Given the description of an element on the screen output the (x, y) to click on. 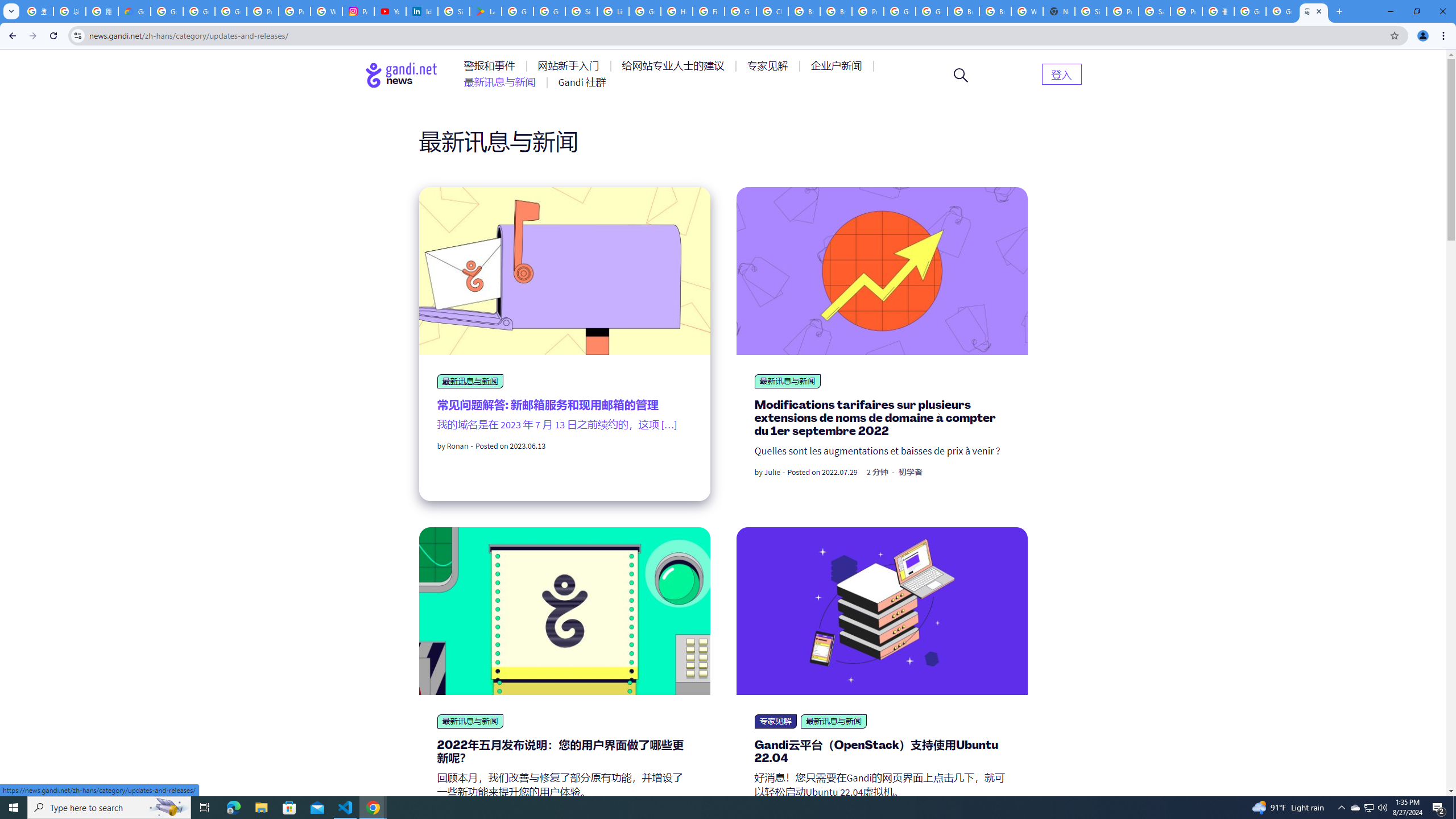
Browse Chrome as a guest - Computer - Google Chrome Help (963, 11)
Browse Chrome as a guest - Computer - Google Chrome Help (836, 11)
AutomationID: menu-item-77766 (502, 82)
YouTube Culture & Trends - On The Rise: Handcam Videos (389, 11)
